Given the description of an element on the screen output the (x, y) to click on. 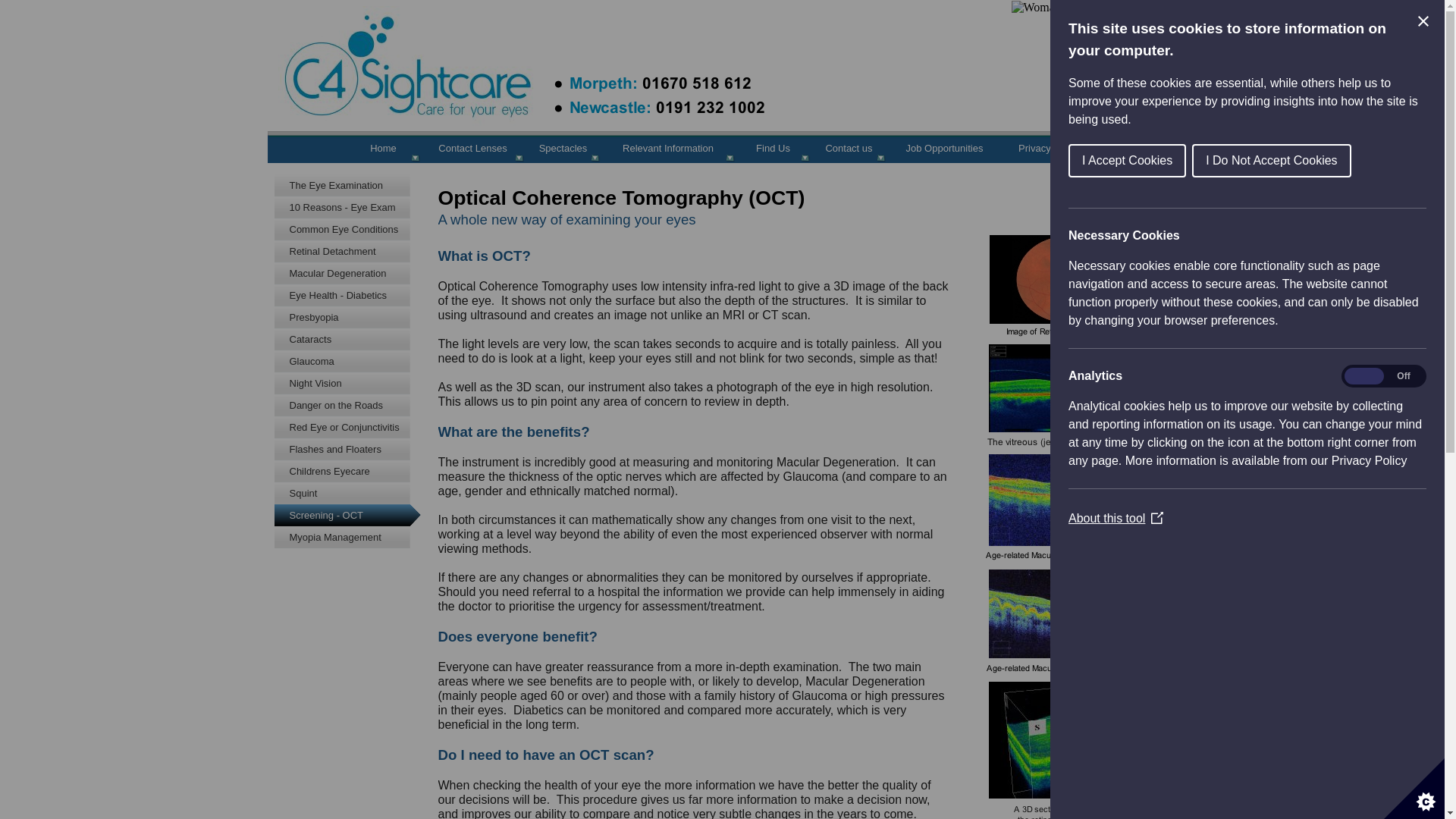
Retinal Detachment (353, 251)
Glaucoma (353, 361)
Macular Degeneration (353, 273)
Cataracts (353, 339)
Cataracts (353, 339)
Flashes and Floaters (353, 449)
The Eye Examination (353, 185)
Red Eye or Conjunctivitis (353, 427)
Contact Lenses (473, 149)
Spectacles (563, 149)
10 Reasons - Eye Exam (353, 207)
Childrens Eyecare (353, 471)
Privacy Policy (1050, 149)
10 Reason for an Eye Exam (353, 207)
Myopia Management (353, 536)
